Given the description of an element on the screen output the (x, y) to click on. 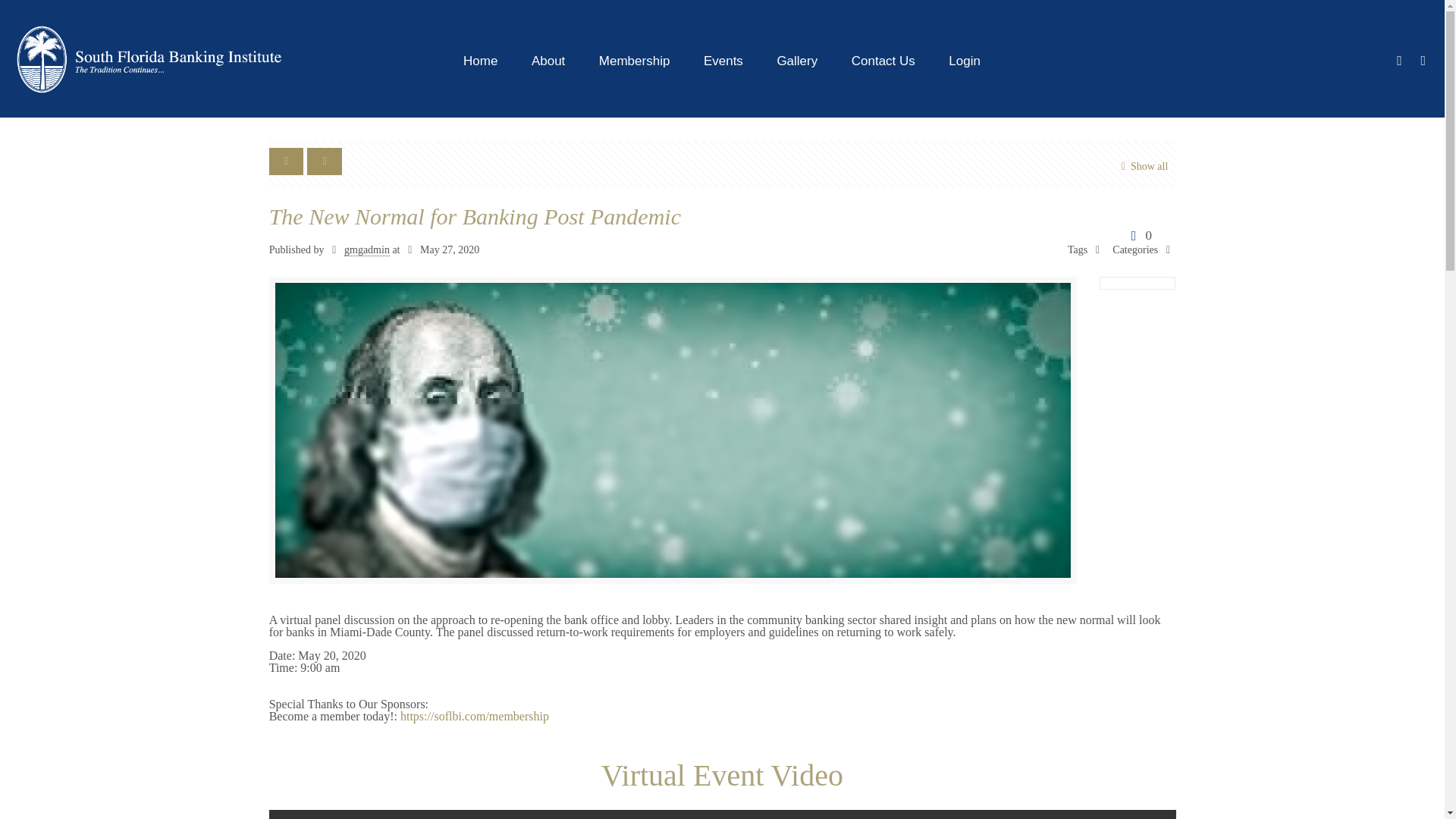
Show all (1141, 166)
Facebook (1399, 61)
gmgadmin (366, 250)
Membership (634, 58)
0 (1138, 235)
Home (480, 58)
South Florida Banking Institute (148, 59)
LinkedIn (1422, 61)
About (548, 58)
Login (964, 58)
Contact Us (883, 58)
Gallery (796, 58)
Events (723, 58)
